Given the description of an element on the screen output the (x, y) to click on. 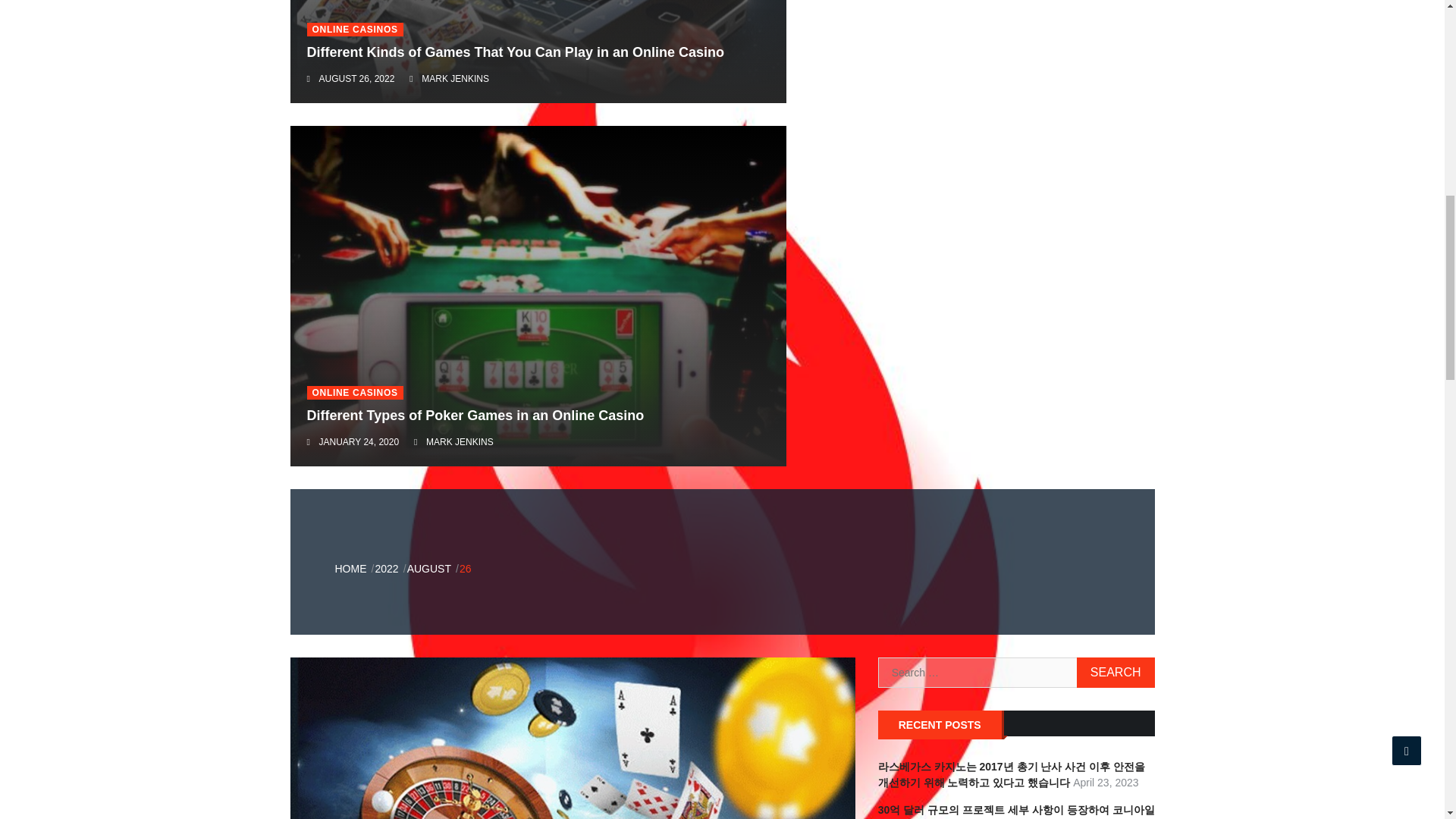
2022 (385, 568)
AUGUST (429, 568)
MARK JENKINS (459, 441)
ONLINE CASINOS (354, 392)
MARK JENKINS (455, 78)
Search (1115, 672)
Different Types of Poker Games in an Online Casino (474, 415)
HOME (350, 568)
Search (1115, 672)
ONLINE CASINOS (354, 29)
